Given the description of an element on the screen output the (x, y) to click on. 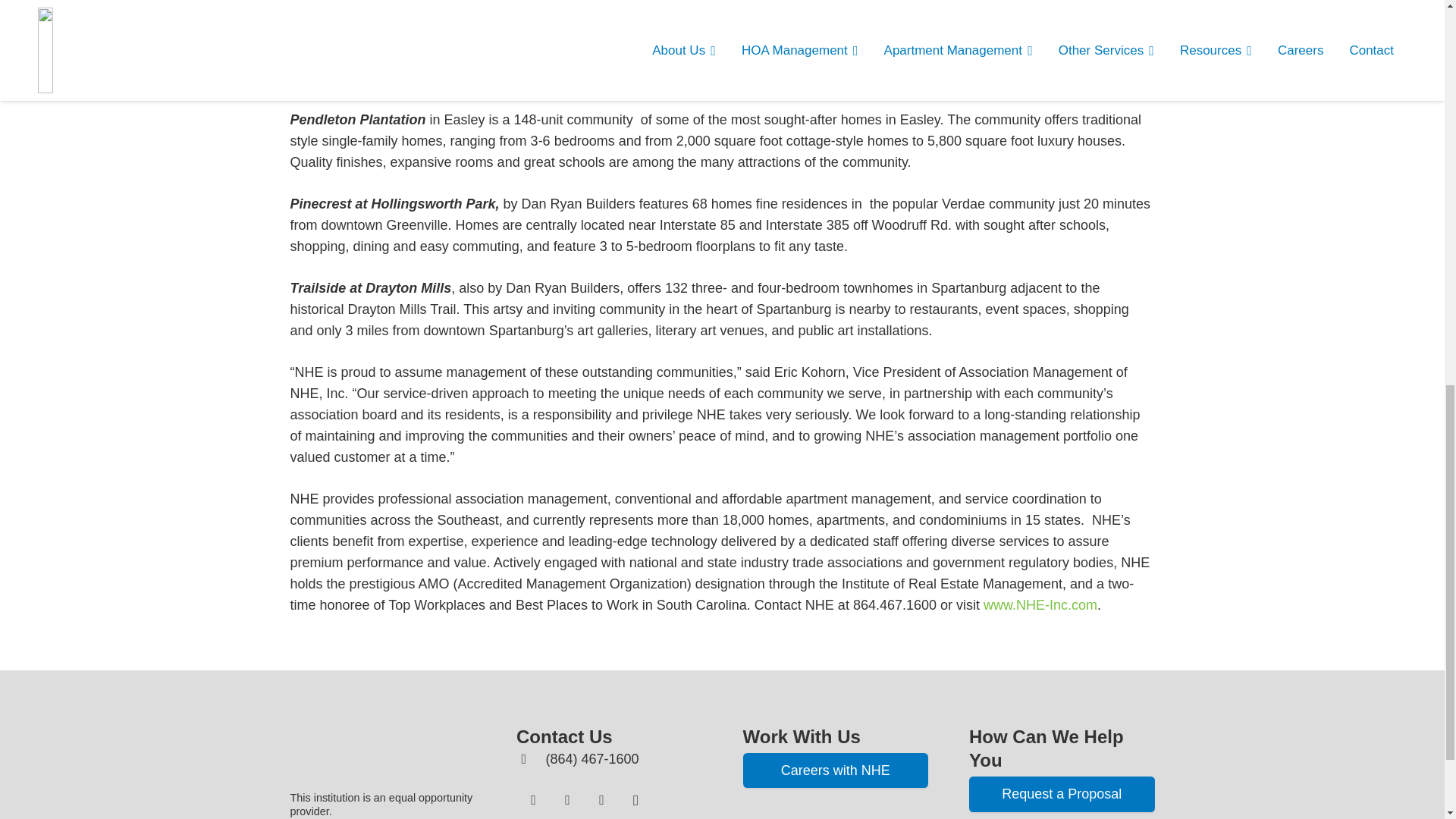
YouTube (601, 799)
Back to top (1413, 26)
Instagram (635, 799)
Careers with NHE (835, 770)
LinkedIn (567, 799)
Request a Proposal (1061, 794)
Facebook (533, 799)
www.NHE-Inc.com (1040, 604)
